Given the description of an element on the screen output the (x, y) to click on. 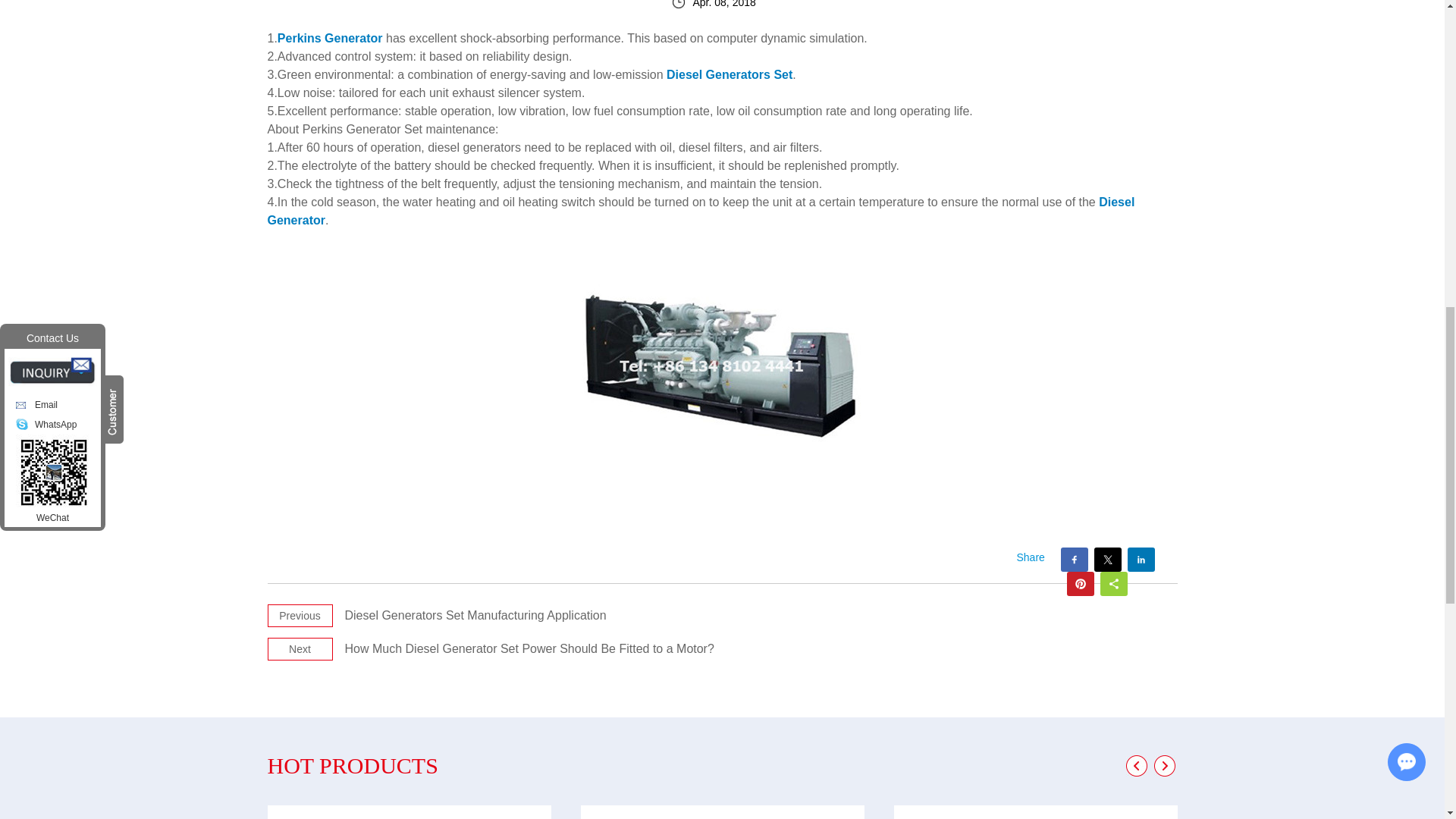
Perkins Generator (330, 38)
68KW 85KVA Volvo Diesel Generator Set (408, 812)
Diesel Generator (700, 210)
Diesel Generators Set (729, 74)
24KW 30KVA Cummins Diesel Generator Set (722, 812)
Perkins Generator (721, 359)
